Given the description of an element on the screen output the (x, y) to click on. 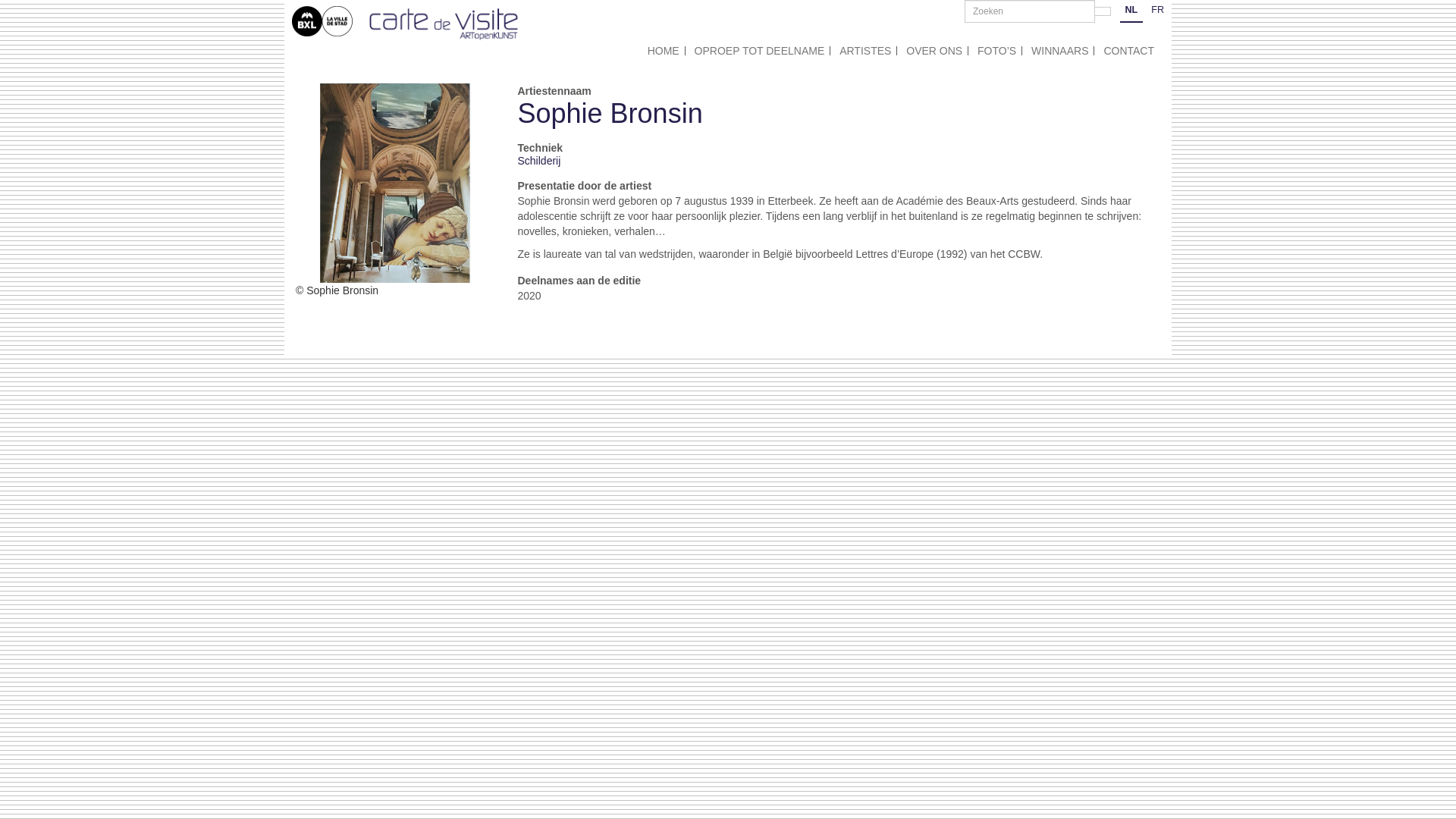
OVER ONS Element type: text (934, 50)
CONTACT Element type: text (1128, 50)
OPROEP TOT DEELNAME Element type: text (759, 50)
WINNAARS Element type: text (1059, 50)
NL Element type: text (1131, 11)
HOME Element type: text (663, 50)
FR Element type: text (1157, 10)
ARTISTES Element type: text (865, 50)
